Given the description of an element on the screen output the (x, y) to click on. 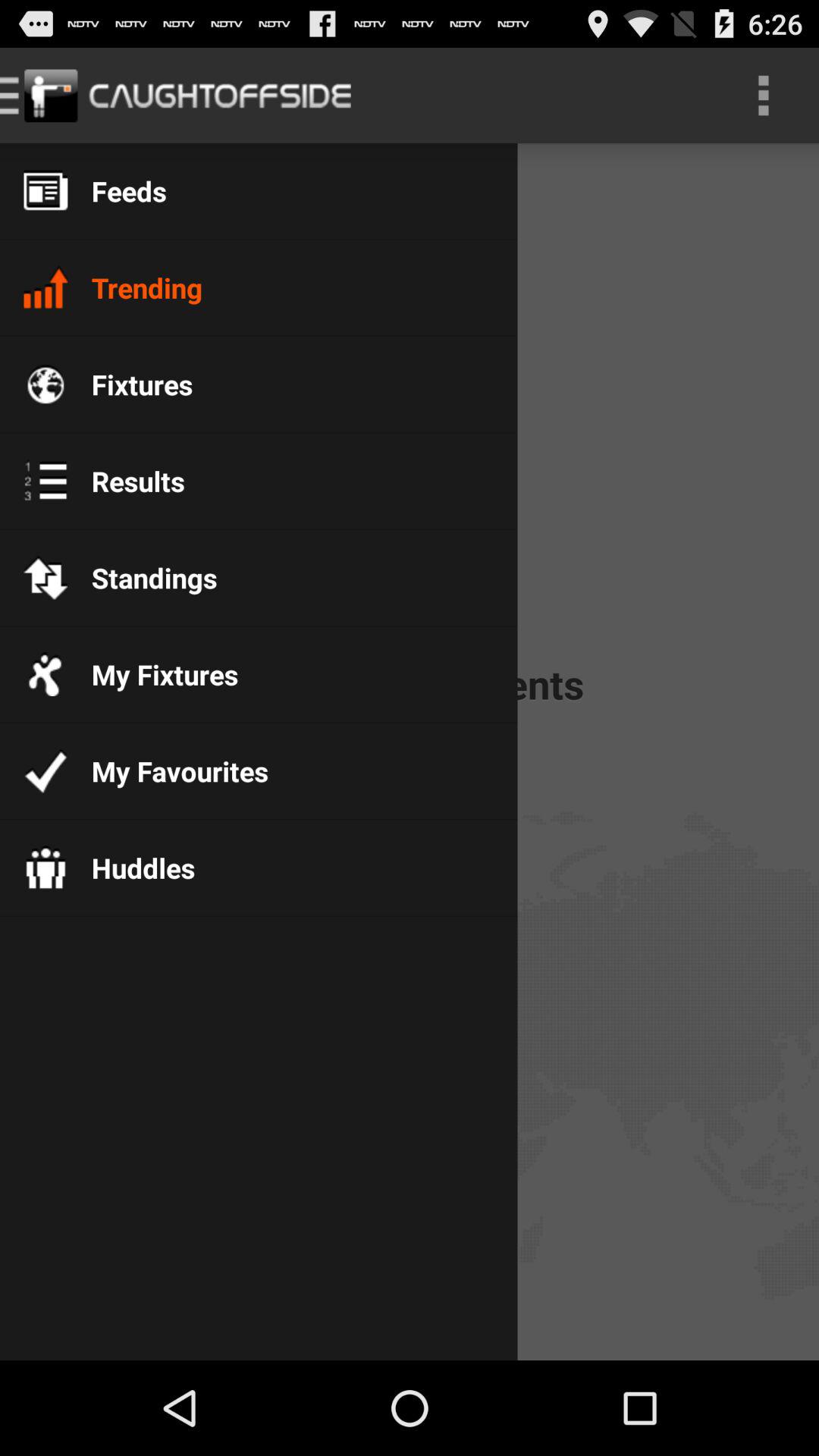
turn on results app (125, 480)
